Given the description of an element on the screen output the (x, y) to click on. 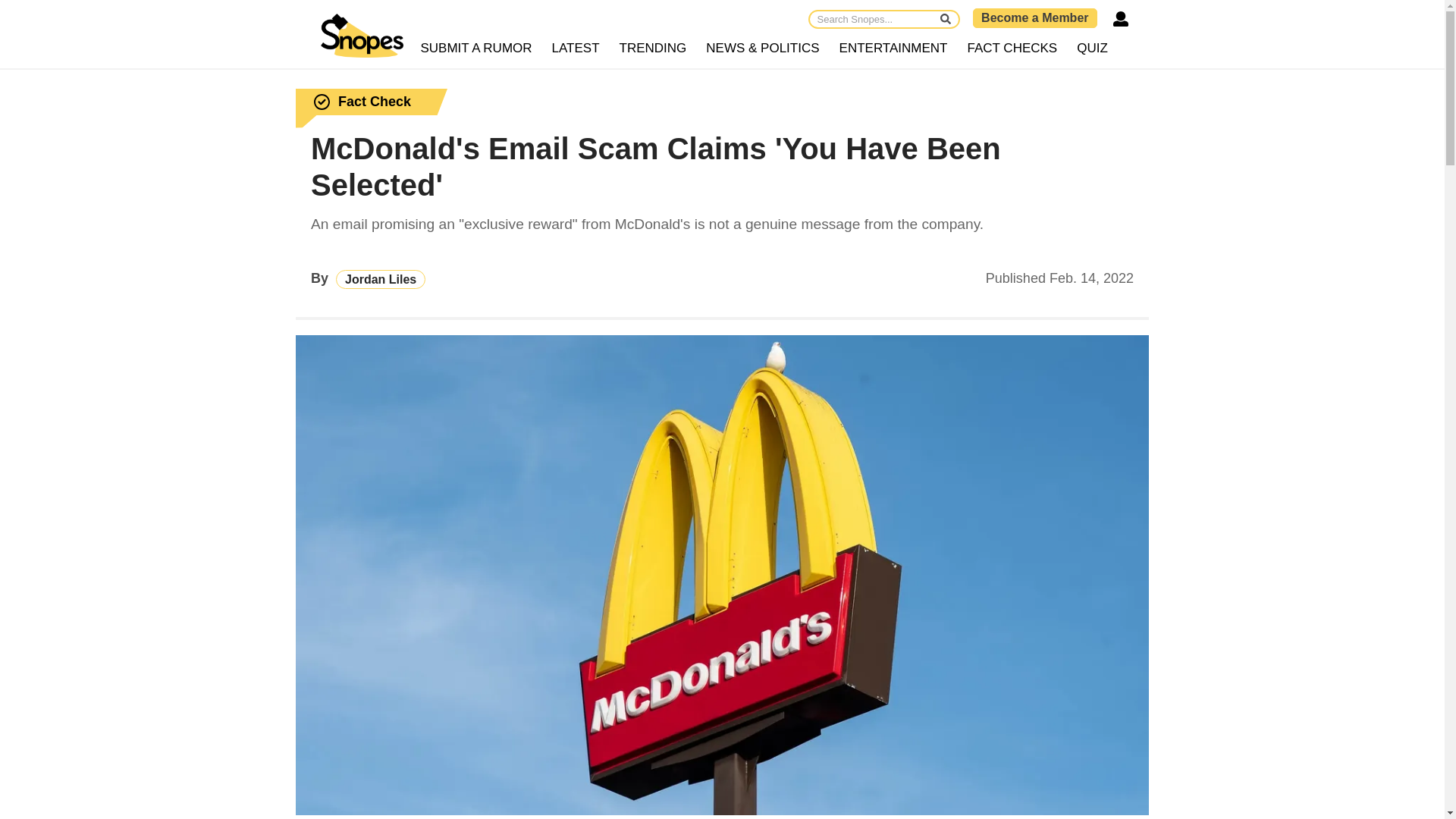
Become a Member (1034, 17)
LATEST (576, 47)
SUBMIT A RUMOR (475, 47)
FACT CHECKS (1011, 47)
ENTERTAINMENT (893, 47)
Jordan Liles (380, 279)
QUIZ (1092, 47)
TRENDING (653, 47)
